Given the description of an element on the screen output the (x, y) to click on. 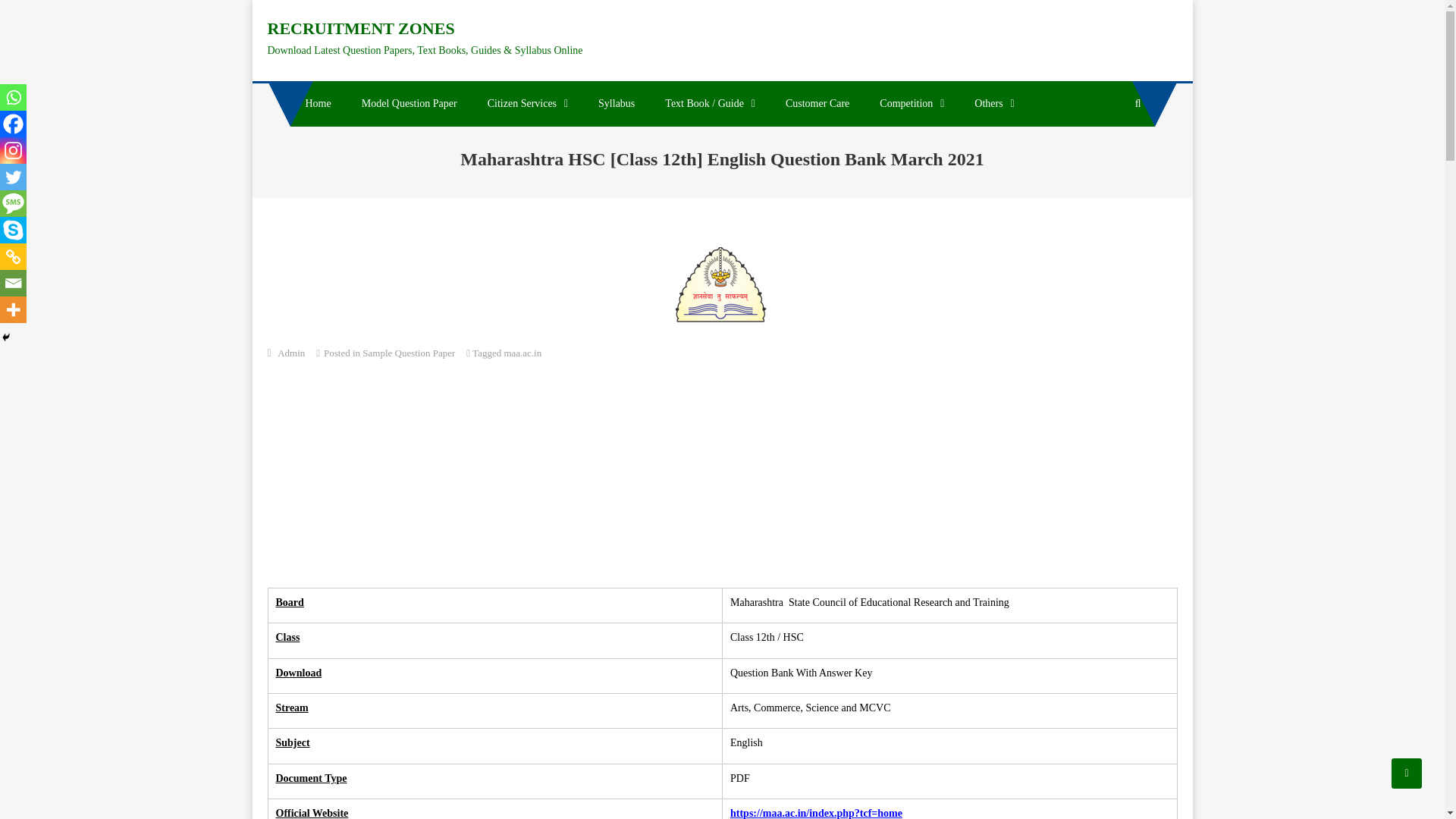
Competition (911, 103)
Home (317, 103)
Twitter (13, 176)
Model Question Paper (408, 103)
SMS (13, 203)
Whatsapp (13, 97)
Instagram (13, 150)
Syllabus (616, 103)
Facebook (13, 123)
Customer Care (817, 103)
